Given the description of an element on the screen output the (x, y) to click on. 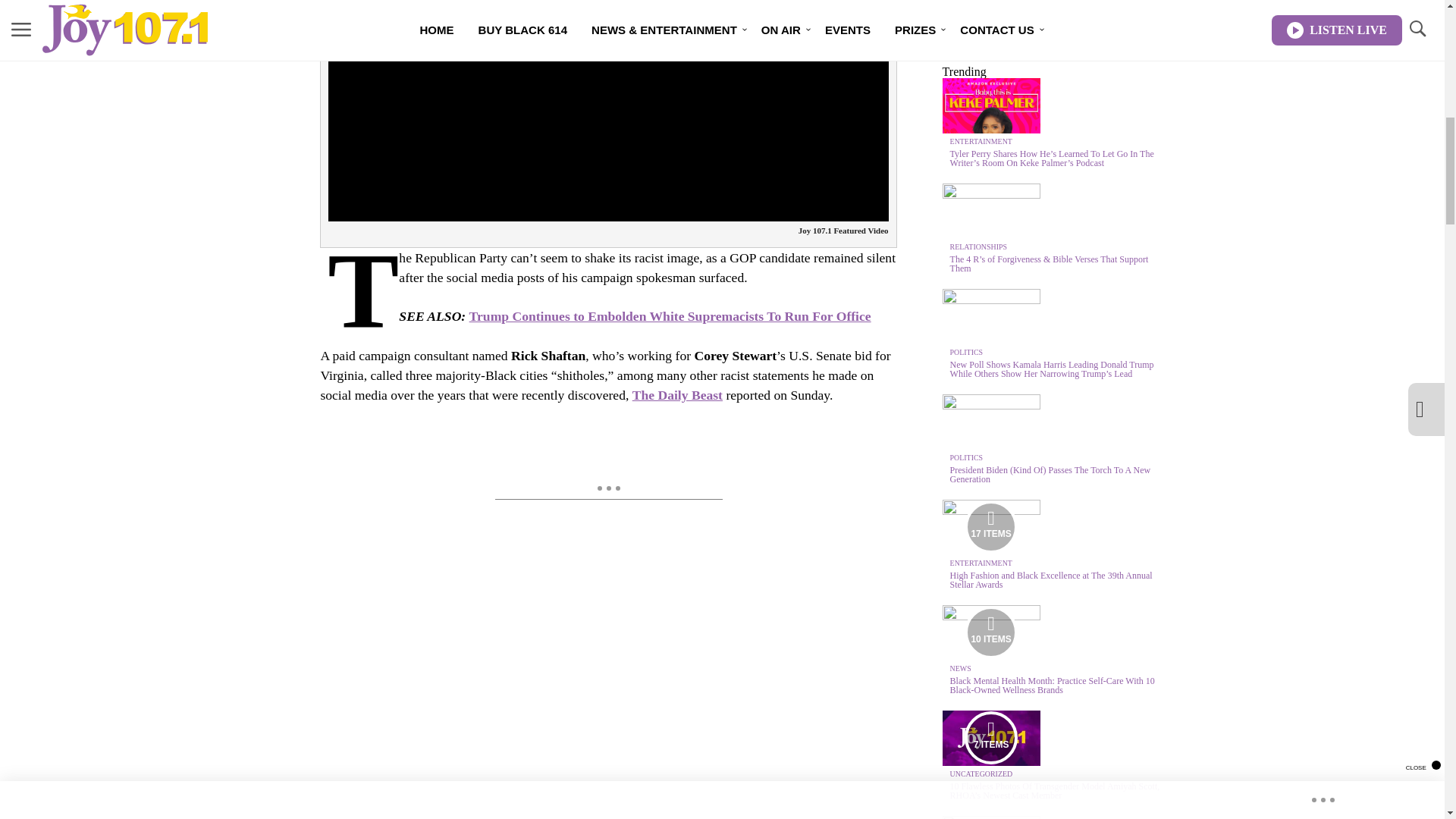
Media Playlist (990, 526)
The Daily Beast (676, 394)
Media Playlist (990, 632)
Media Playlist (990, 737)
Media Playlist (990, 817)
